Given the description of an element on the screen output the (x, y) to click on. 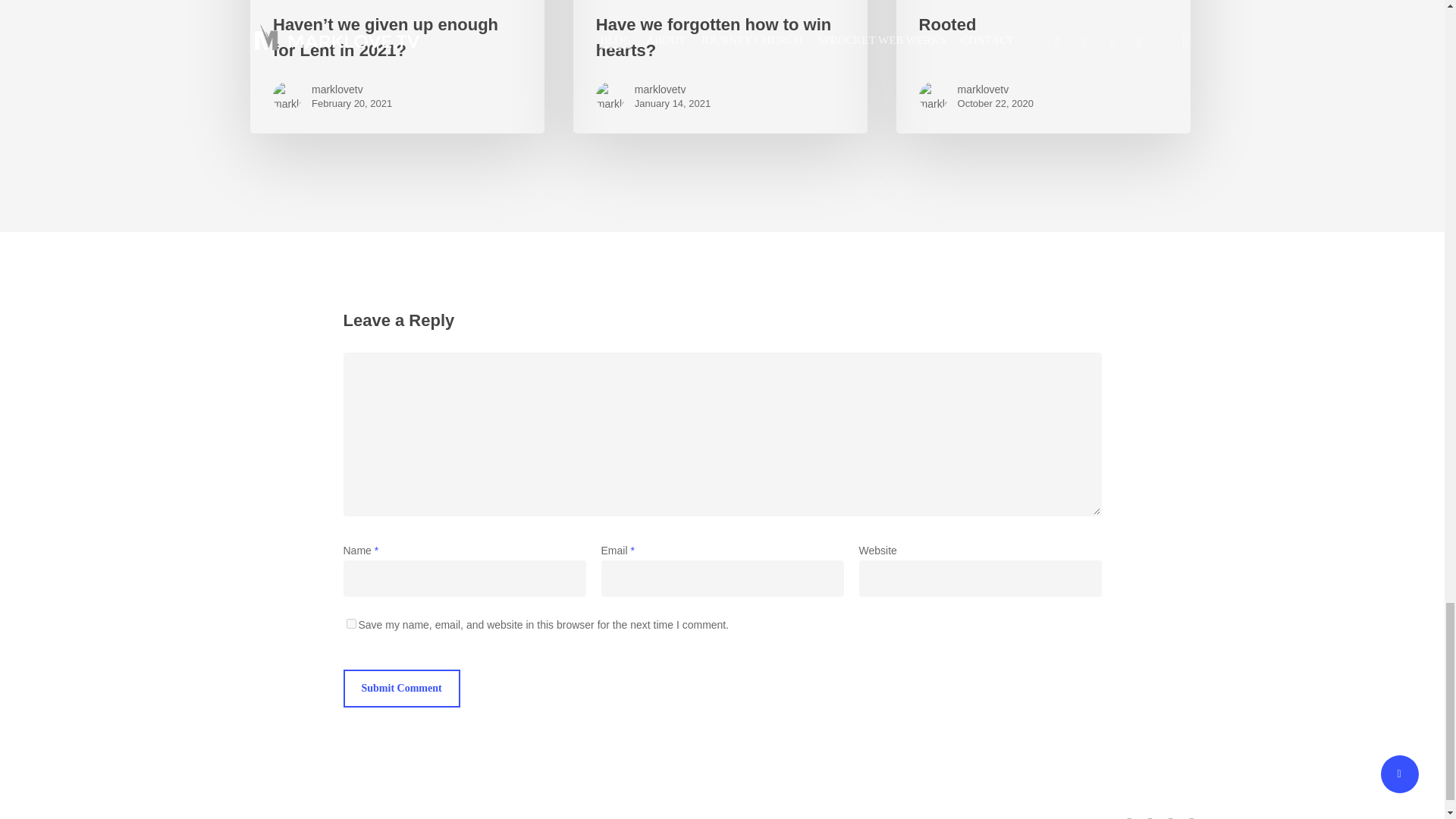
marklovetv (351, 89)
Submit Comment (401, 688)
Submit Comment (401, 688)
marklovetv (672, 89)
yes (350, 623)
marklovetv (995, 89)
